Given the description of an element on the screen output the (x, y) to click on. 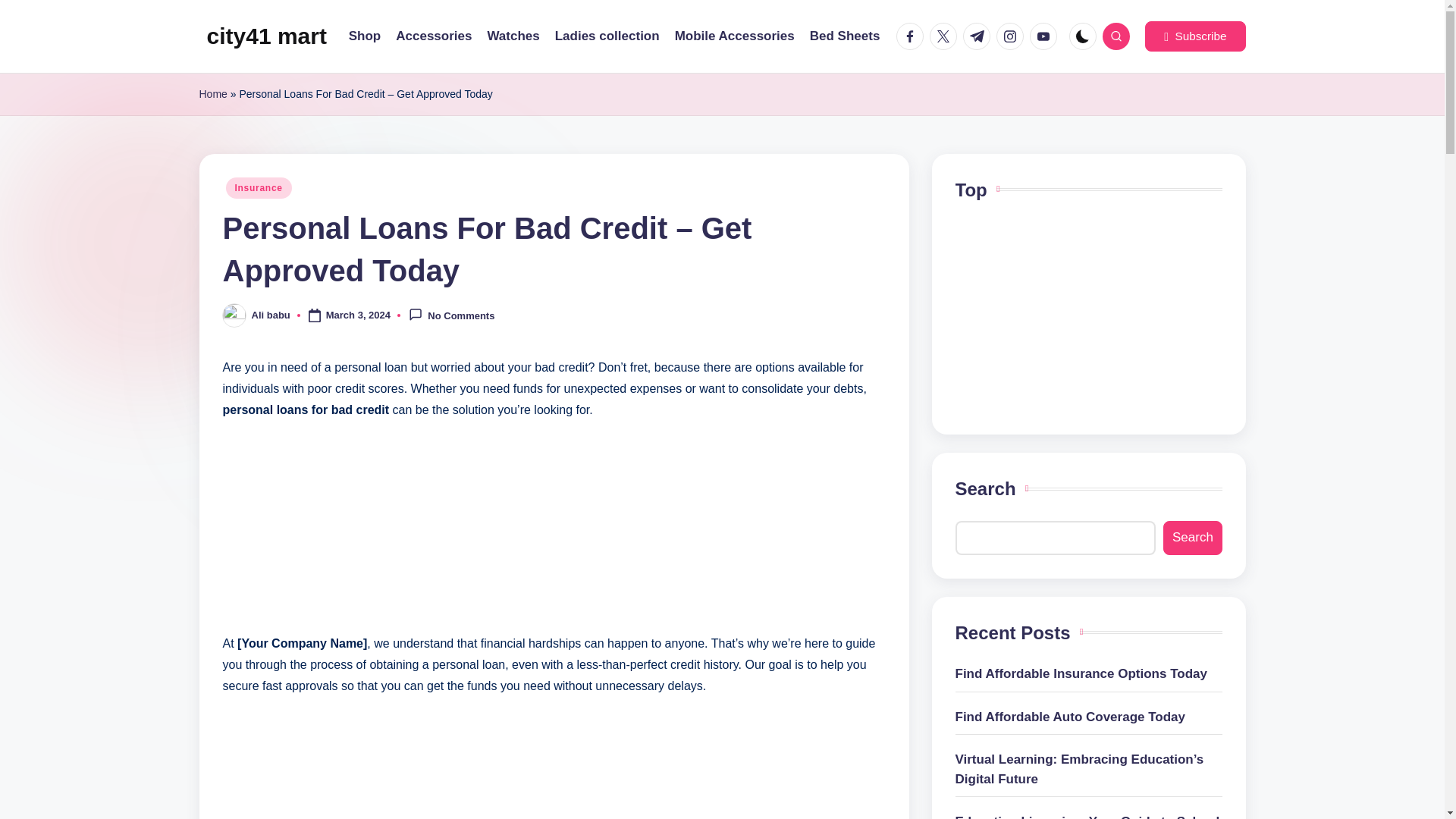
youtube.com (1045, 35)
Ali babu (270, 315)
Subscribe (1194, 36)
Find Affordable Auto Coverage Today (1089, 717)
t.me (978, 35)
instagram.com (1012, 35)
Insurance (258, 188)
Bed Sheets (844, 36)
Find Affordable Insurance Options Today (1089, 673)
Search (1192, 537)
Watches (512, 36)
facebook.com (913, 35)
twitter.com (946, 35)
Education Licensing: Your Guide to School Solutions (1089, 815)
Accessories (433, 36)
